Given the description of an element on the screen output the (x, y) to click on. 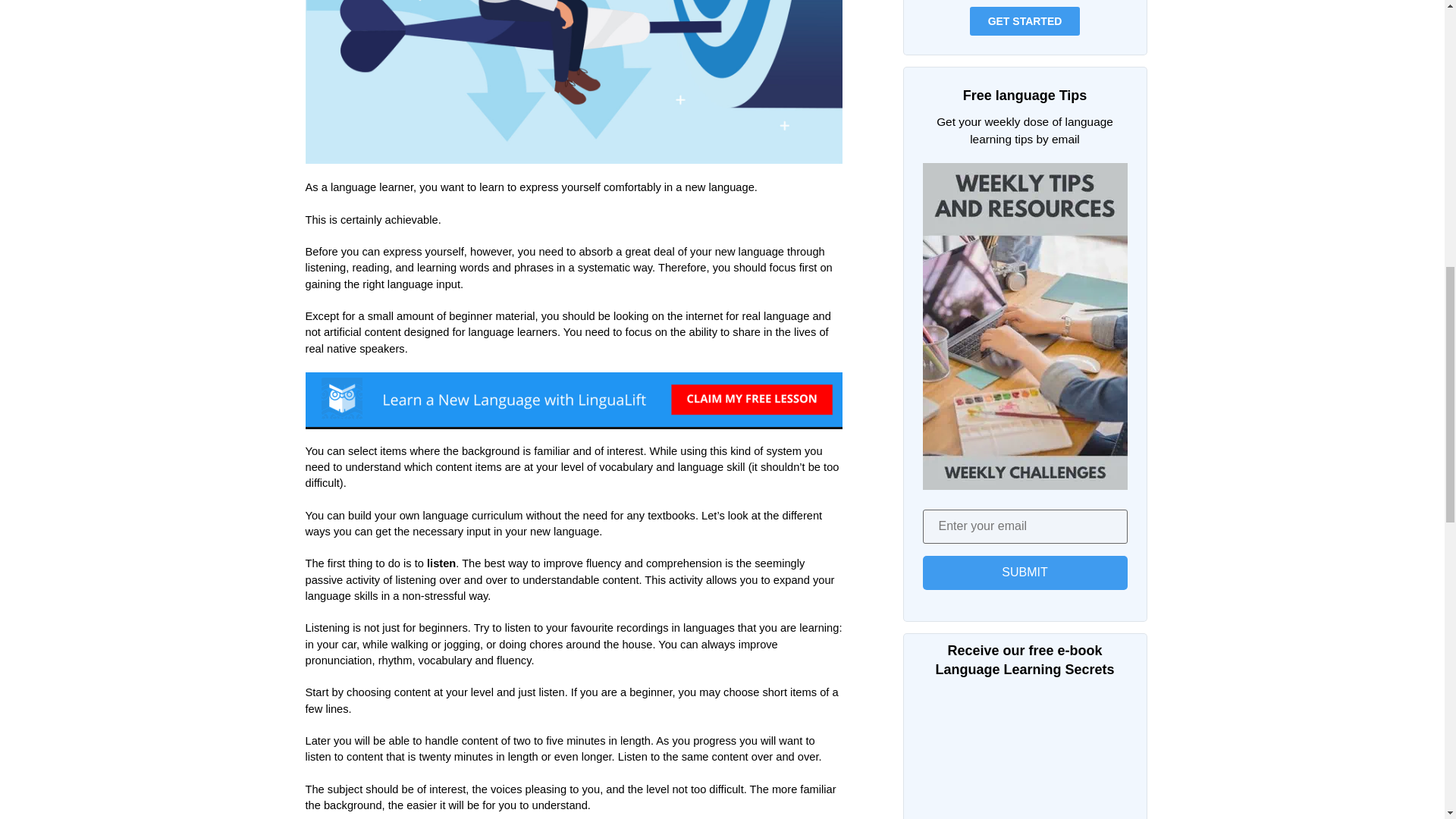
Submit (1023, 572)
GET STARTED (1024, 21)
Submit (1023, 572)
